Given the description of an element on the screen output the (x, y) to click on. 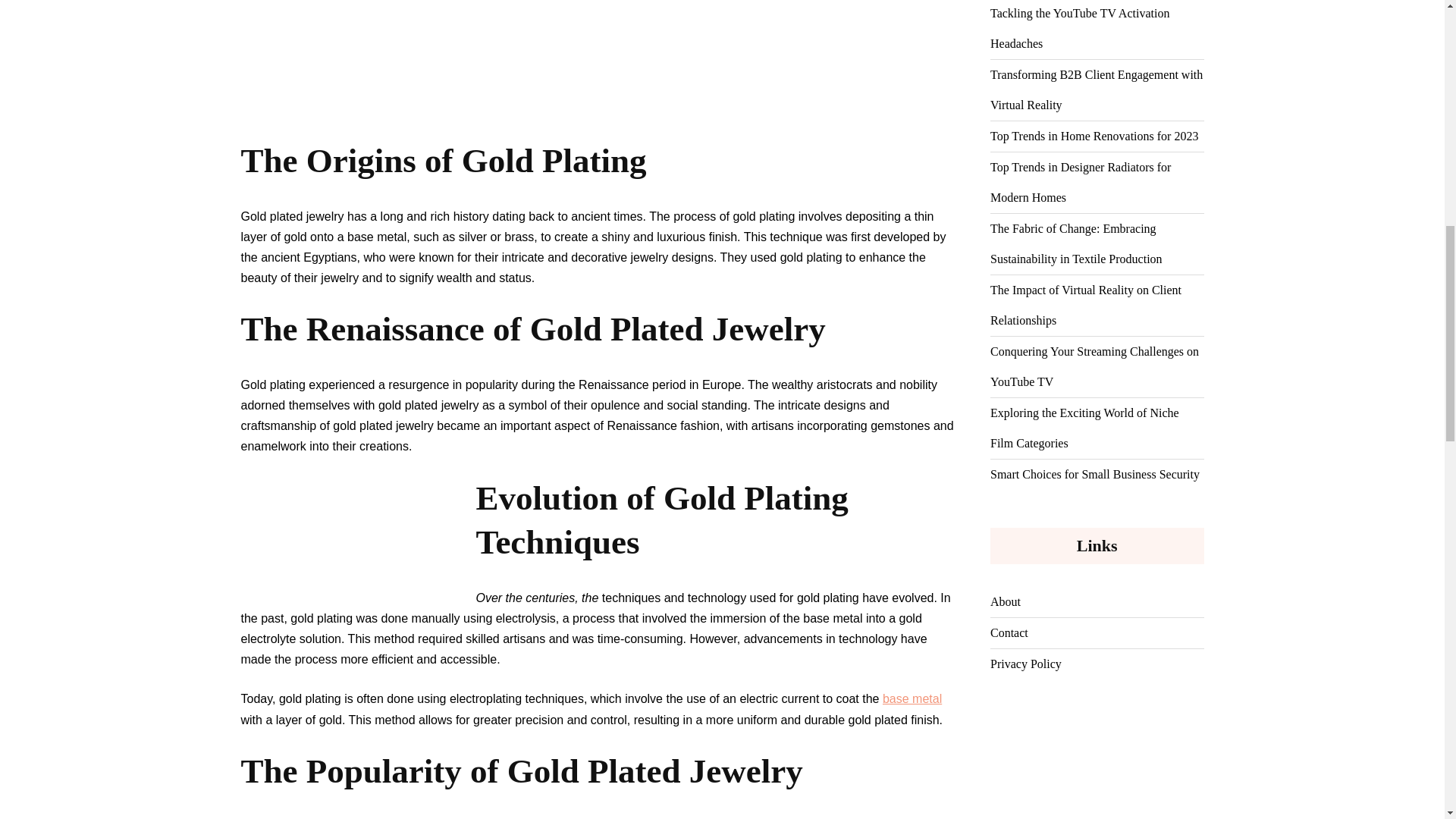
Top Trends in Home Renovations for 2023 (1094, 136)
Tackling the YouTube TV Activation Headaches (1097, 29)
Transforming B2B Client Engagement with Virtual Reality (1097, 89)
Top Trends in Designer Radiators for Modern Homes (1097, 182)
base metal (912, 698)
The Impact of Virtual Reality on Client Relationships (1097, 305)
